Given the description of an element on the screen output the (x, y) to click on. 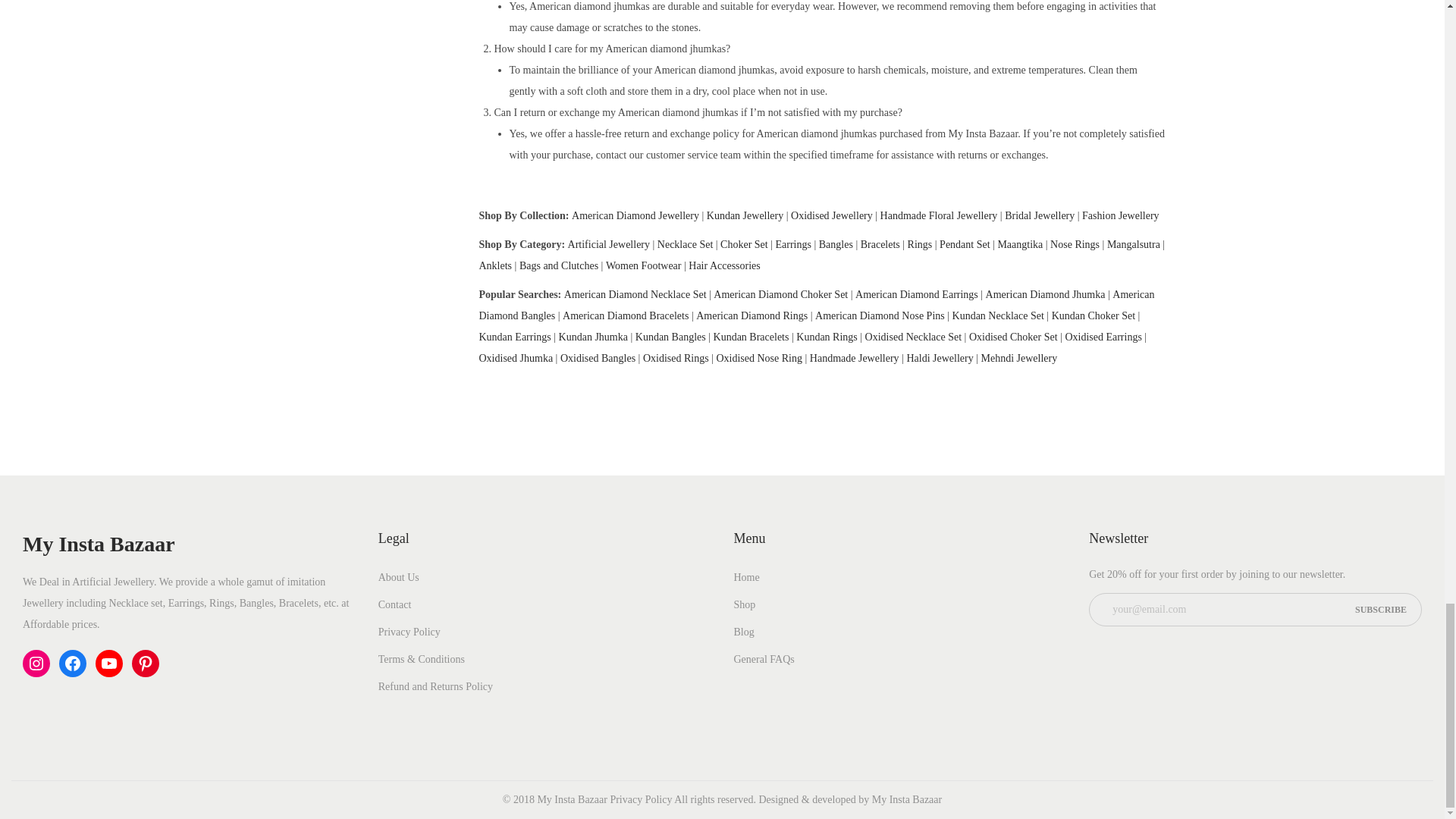
Subscribe (1380, 609)
